Given the description of an element on the screen output the (x, y) to click on. 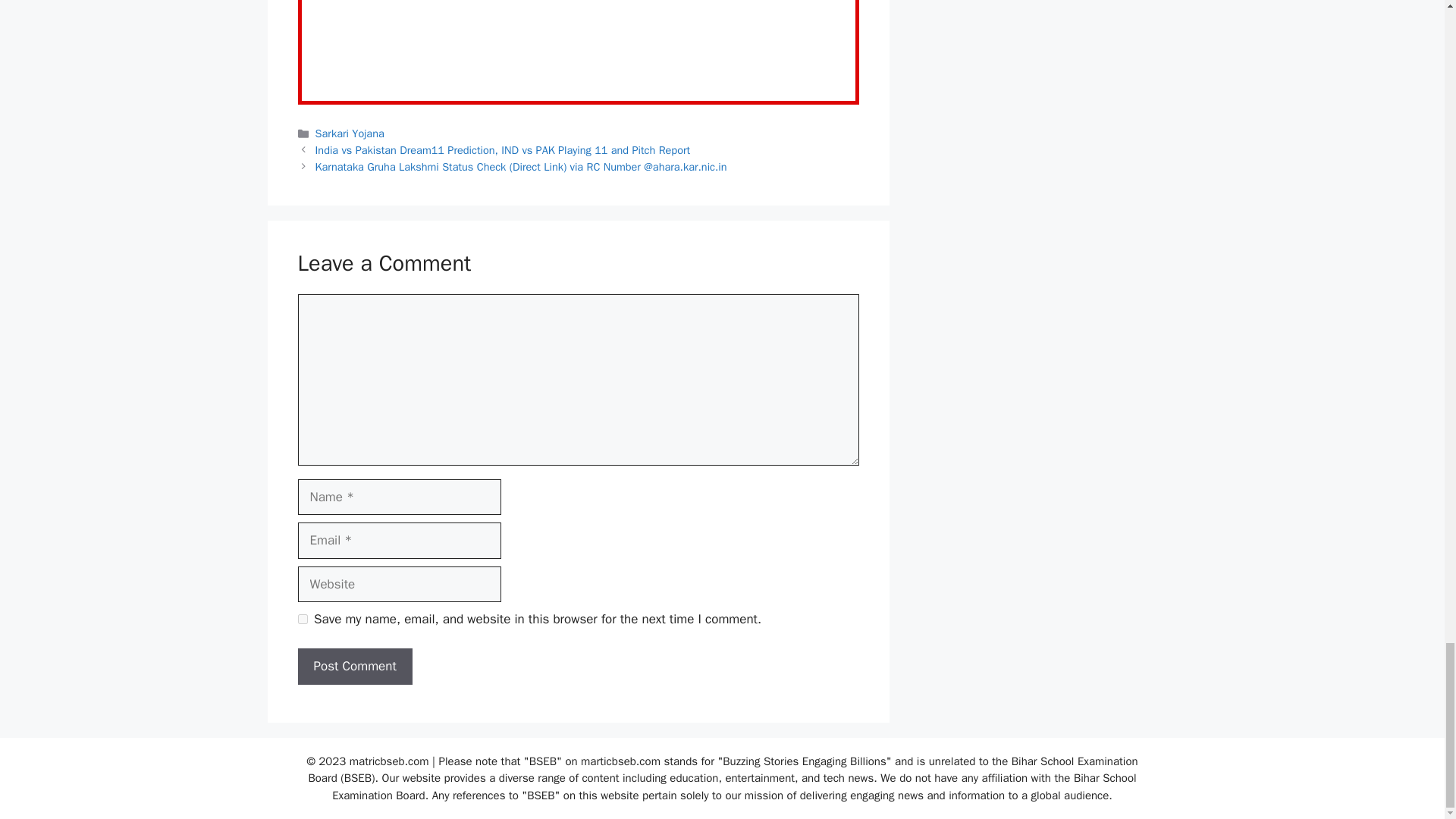
yes (302, 619)
Post Comment (354, 666)
Post Comment (354, 666)
Sarkari Yojana (349, 133)
